Given the description of an element on the screen output the (x, y) to click on. 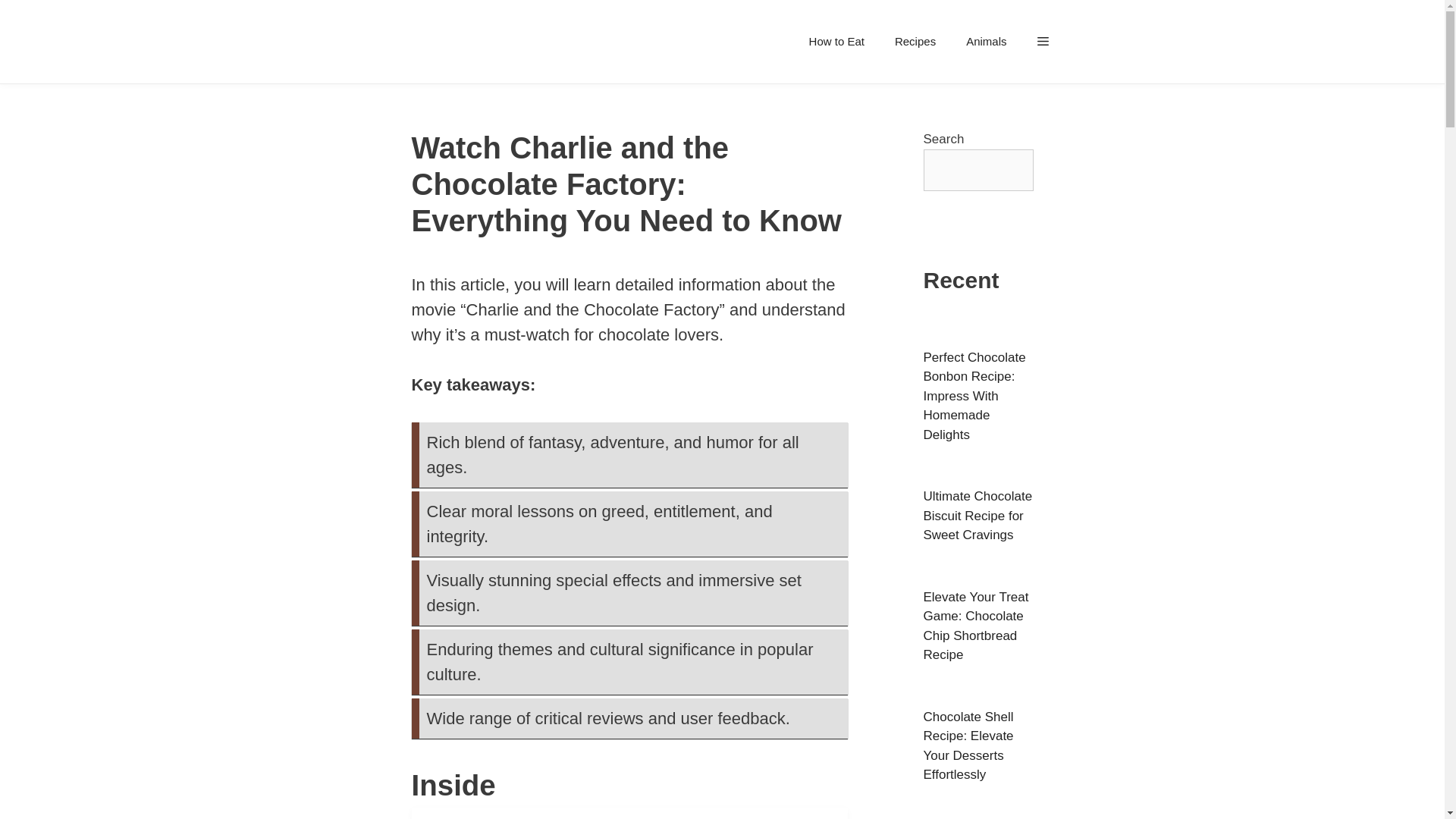
Animals (986, 41)
Recipes (914, 41)
Chocolate Shell Recipe: Elevate Your Desserts Effortlessly (968, 746)
Ultimate Chocolate Biscuit Recipe for Sweet Cravings (977, 515)
Joe Chocolates (467, 41)
How to Eat (836, 41)
Elevate Your Treat Game: Chocolate Chip Shortbread Recipe (976, 625)
